Given the description of an element on the screen output the (x, y) to click on. 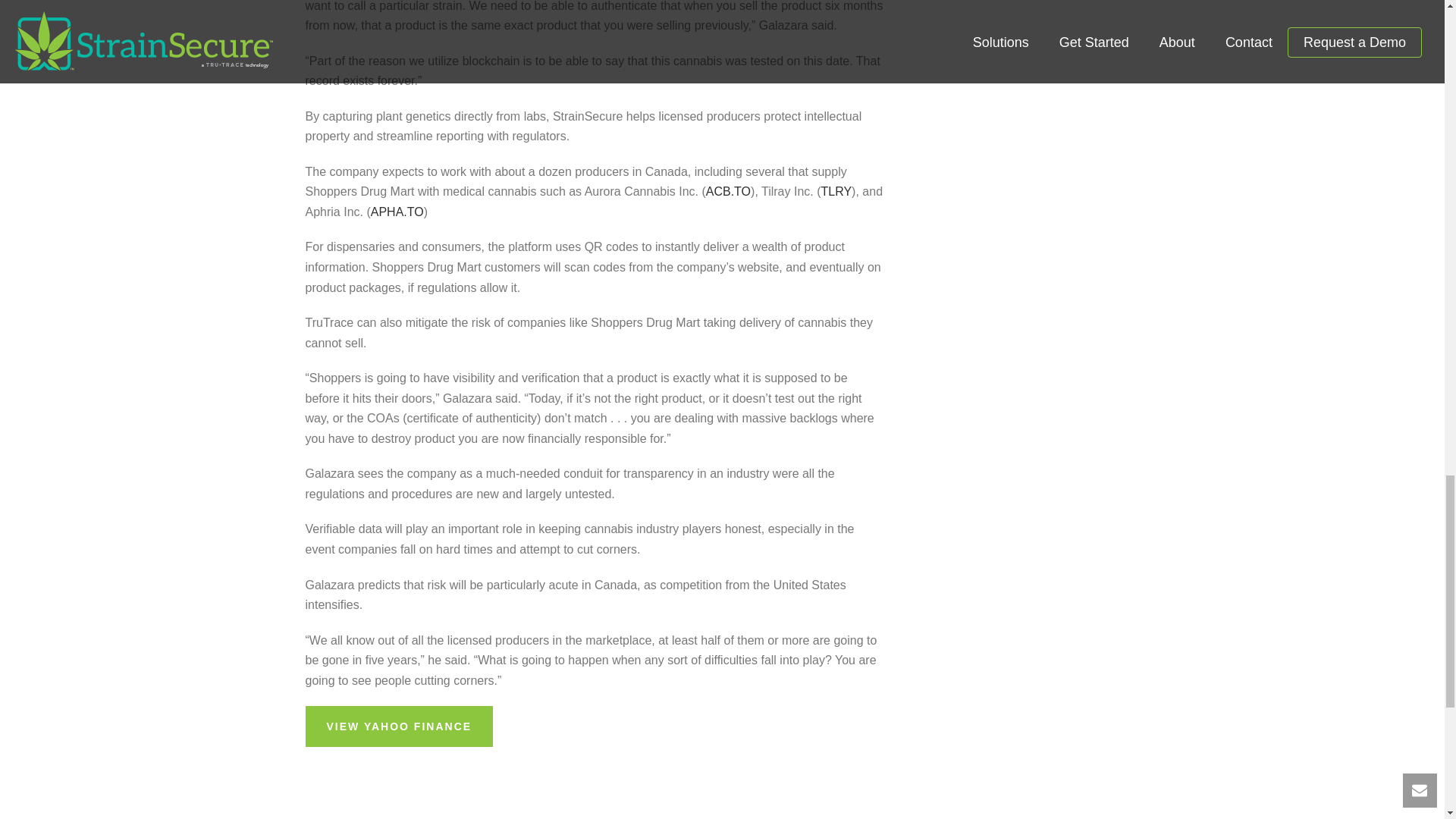
VIEW YAHOO FINANCE (398, 725)
VIEW YAHOO FINANCE (398, 725)
ACB.TO (728, 191)
APHA.TO (397, 211)
TLRY (836, 191)
